Given the description of an element on the screen output the (x, y) to click on. 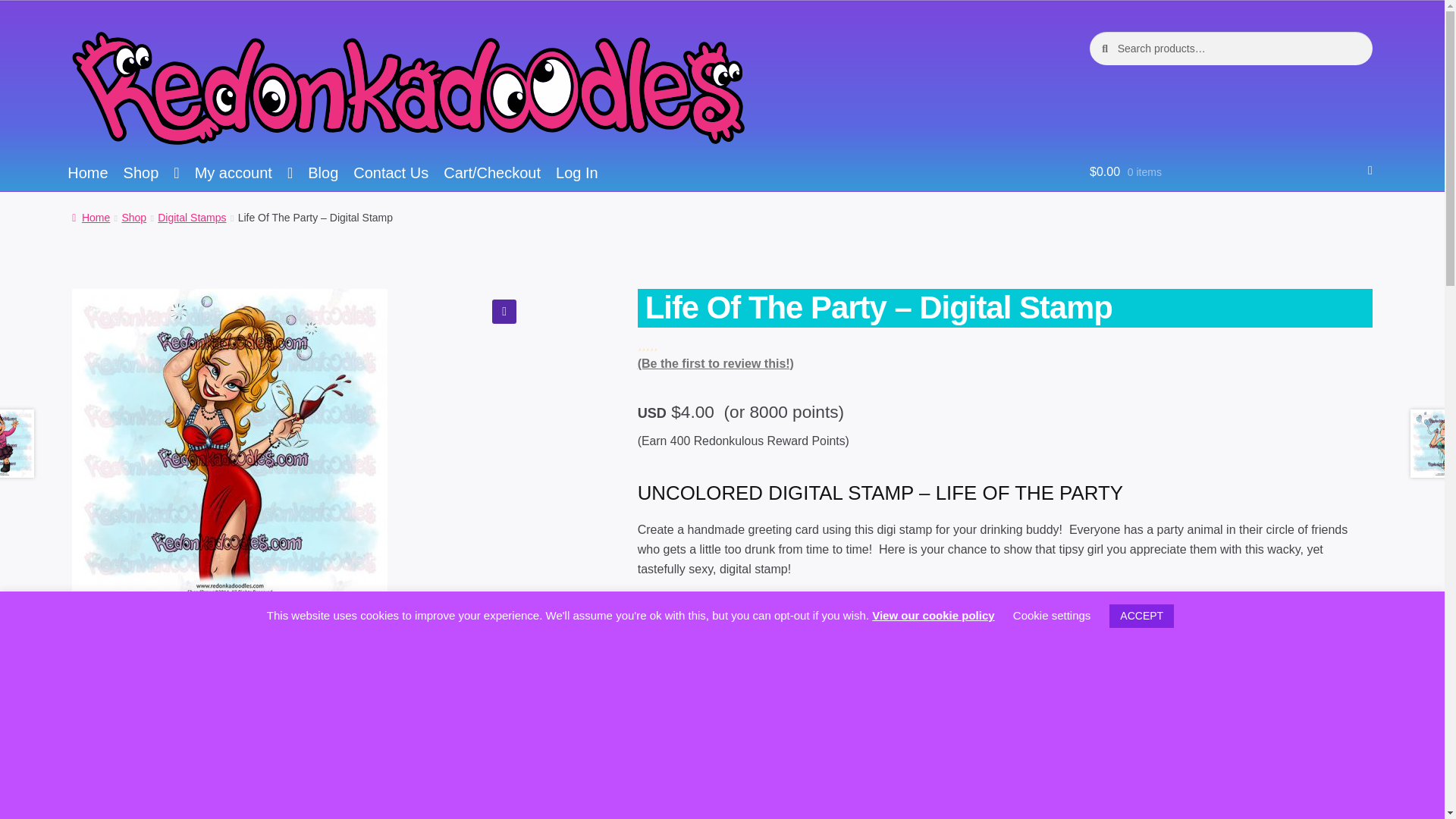
Blog (322, 174)
Log In (576, 174)
View your shopping cart (1231, 167)
Shop (151, 174)
Contact Us (390, 174)
My account (244, 174)
Home (87, 174)
